Given the description of an element on the screen output the (x, y) to click on. 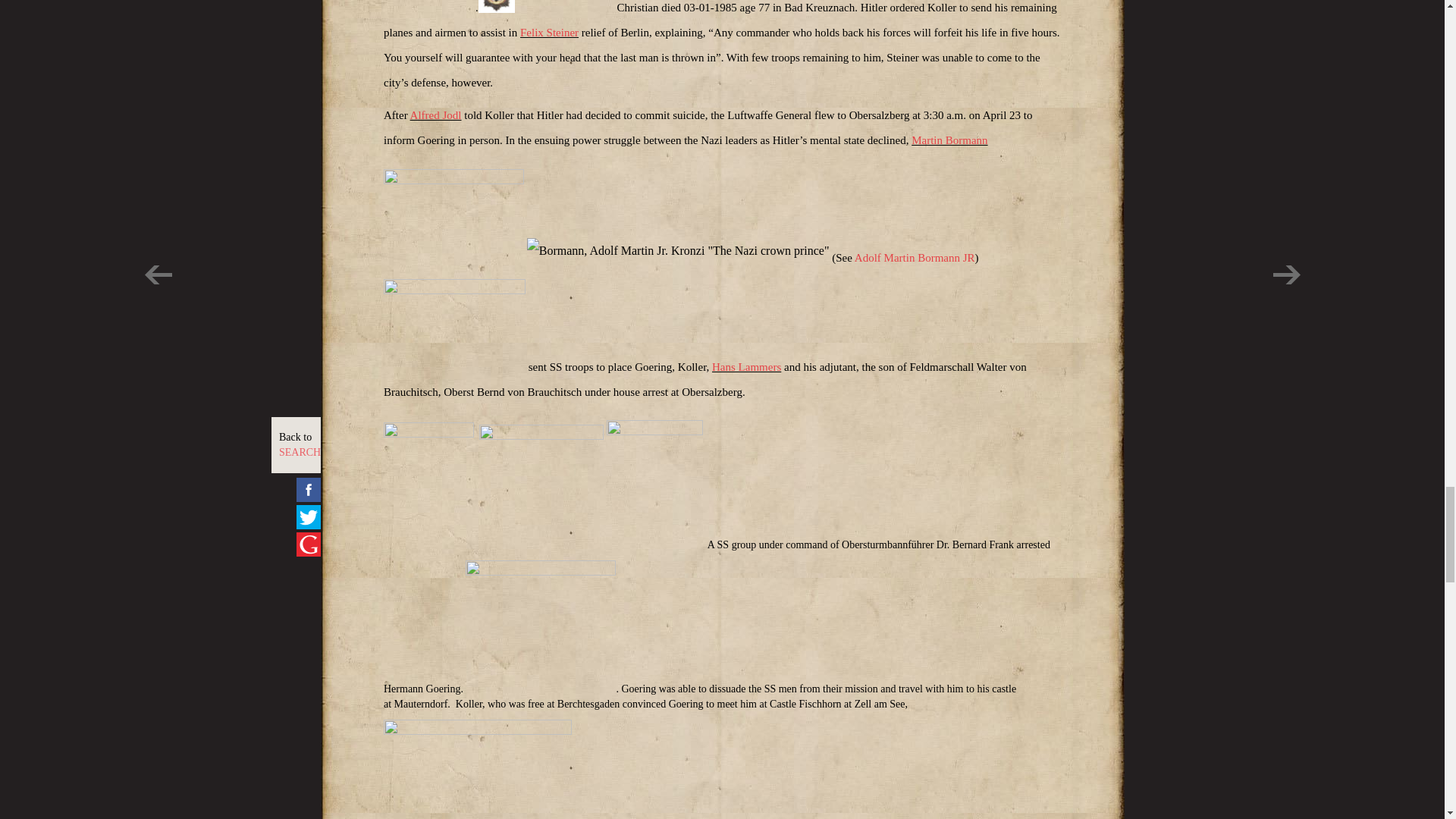
Alfred Jodl (435, 114)
Martin Bormann (949, 140)
Adolf Martin Bormann JR (914, 257)
Felix Steiner (548, 32)
Hans Lammers (745, 367)
